Given the description of an element on the screen output the (x, y) to click on. 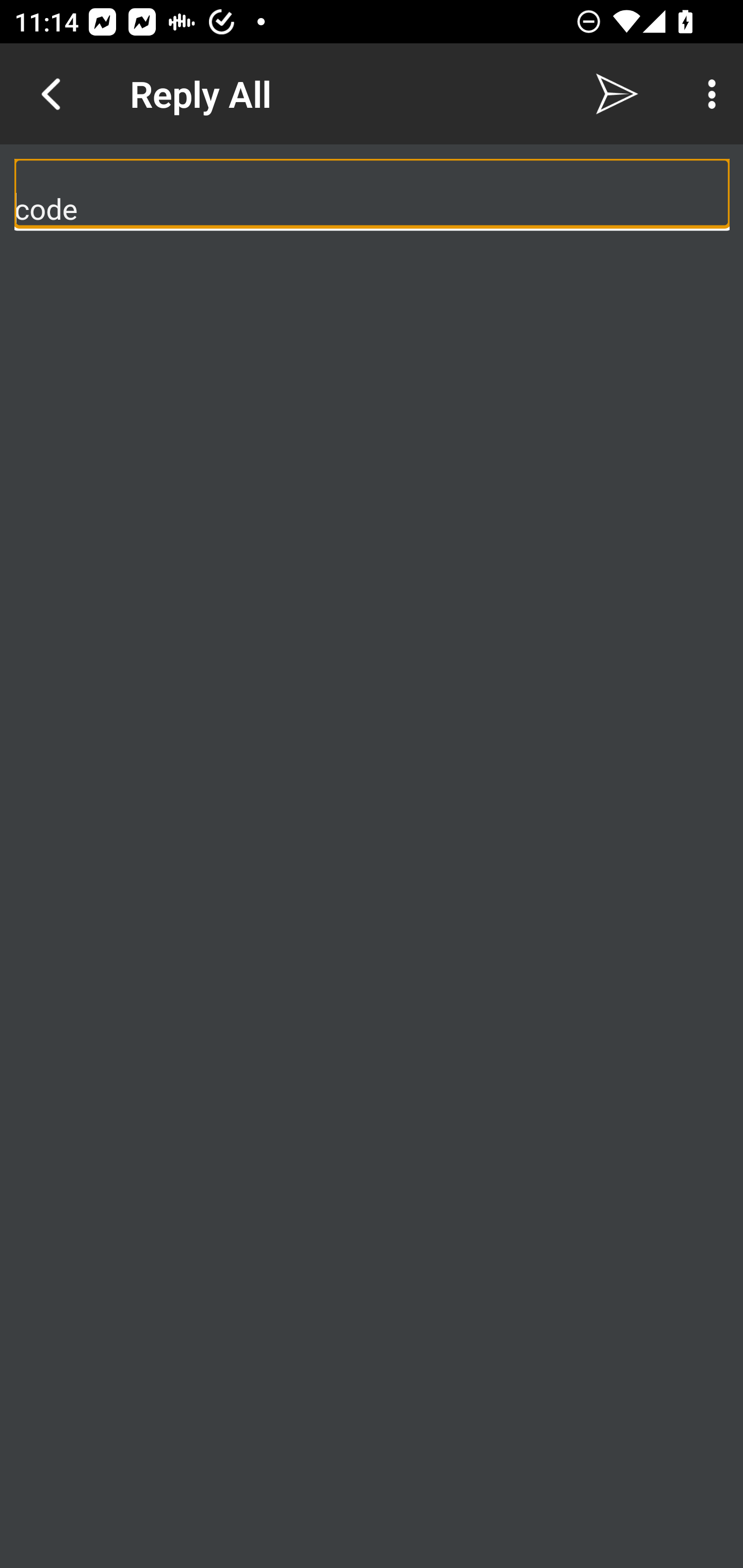
Navigate up (50, 93)
Send (616, 93)
More Options (706, 93)

code (372, 192)
